Given the description of an element on the screen output the (x, y) to click on. 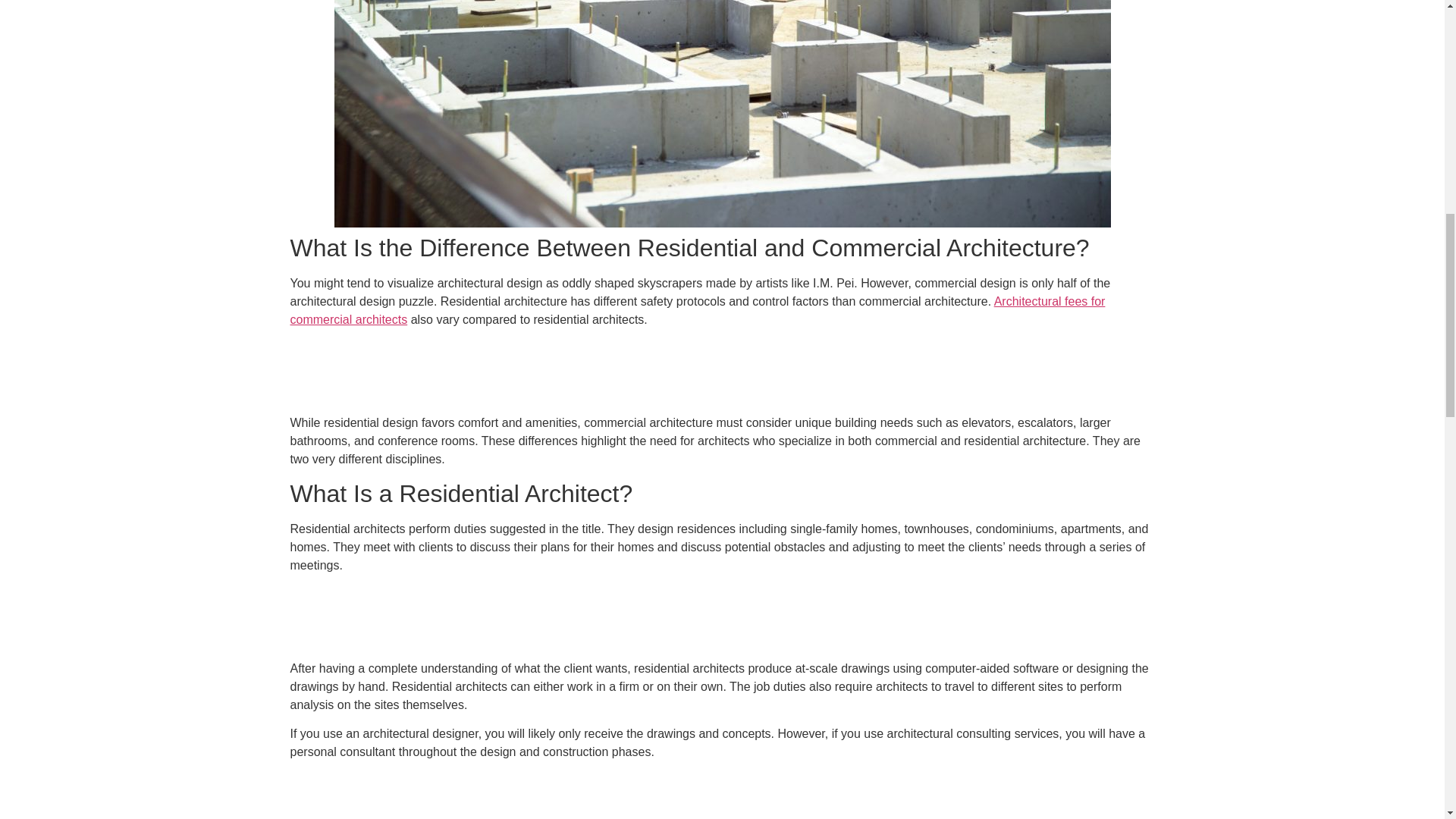
Architectural fees for commercial architects (697, 309)
Advertisement (721, 795)
Advertisement (721, 620)
Advertisement (721, 374)
